Given the description of an element on the screen output the (x, y) to click on. 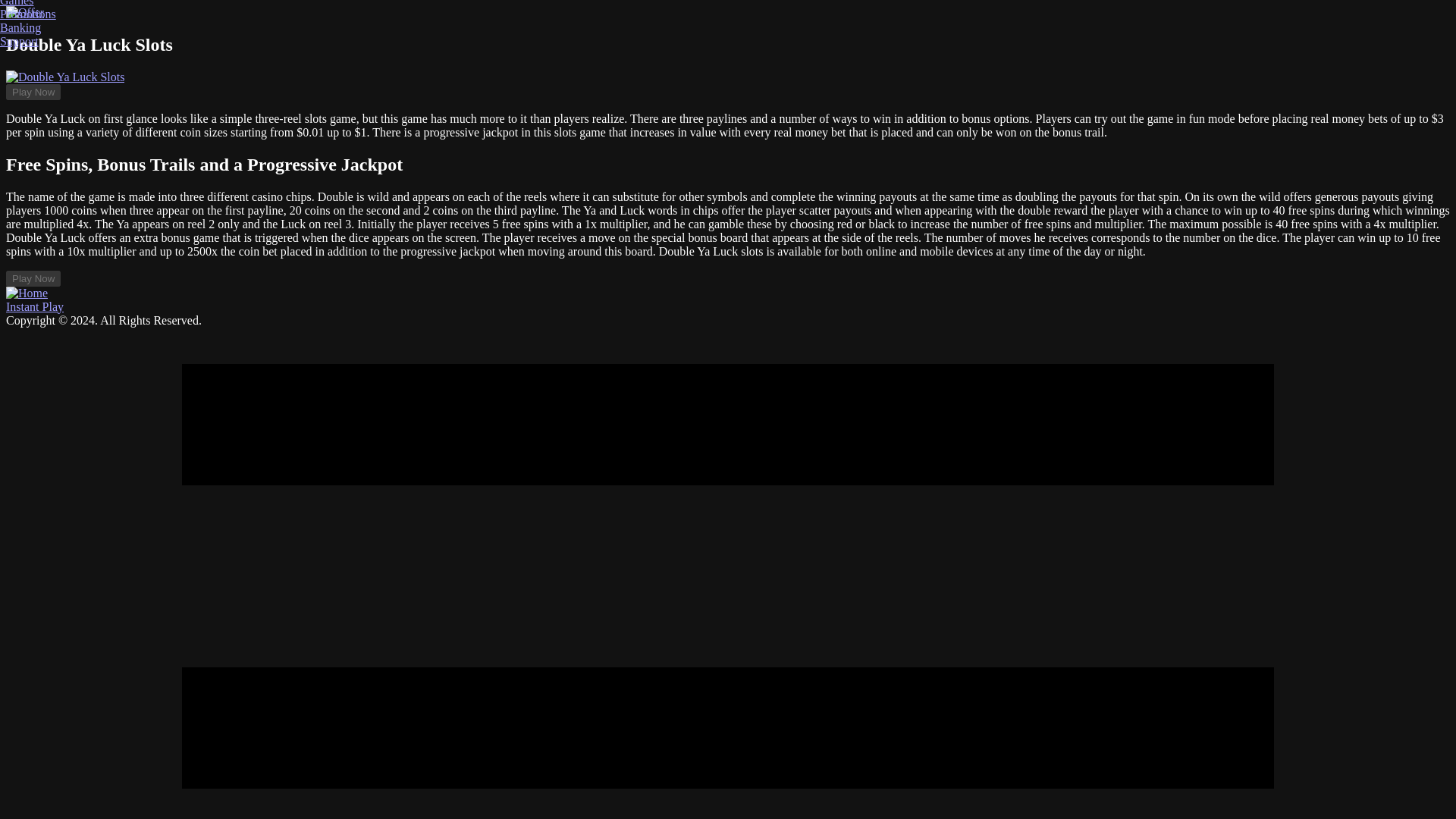
Instant Play (34, 306)
Play Now (33, 91)
Play Now (33, 278)
